Given the description of an element on the screen output the (x, y) to click on. 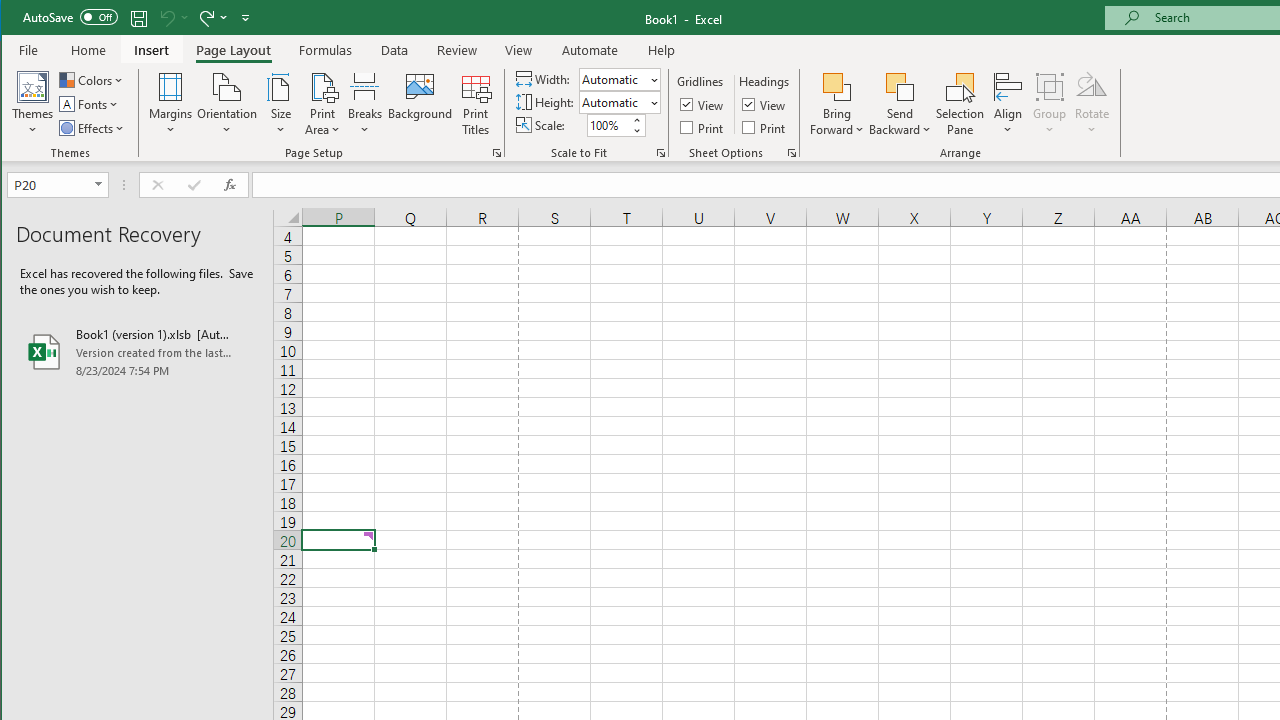
Colors (93, 80)
Bring Forward (836, 104)
Send Backward (900, 104)
Height (619, 101)
More (636, 120)
Orientation (226, 104)
Page Setup (660, 152)
Breaks (365, 104)
